Given the description of an element on the screen output the (x, y) to click on. 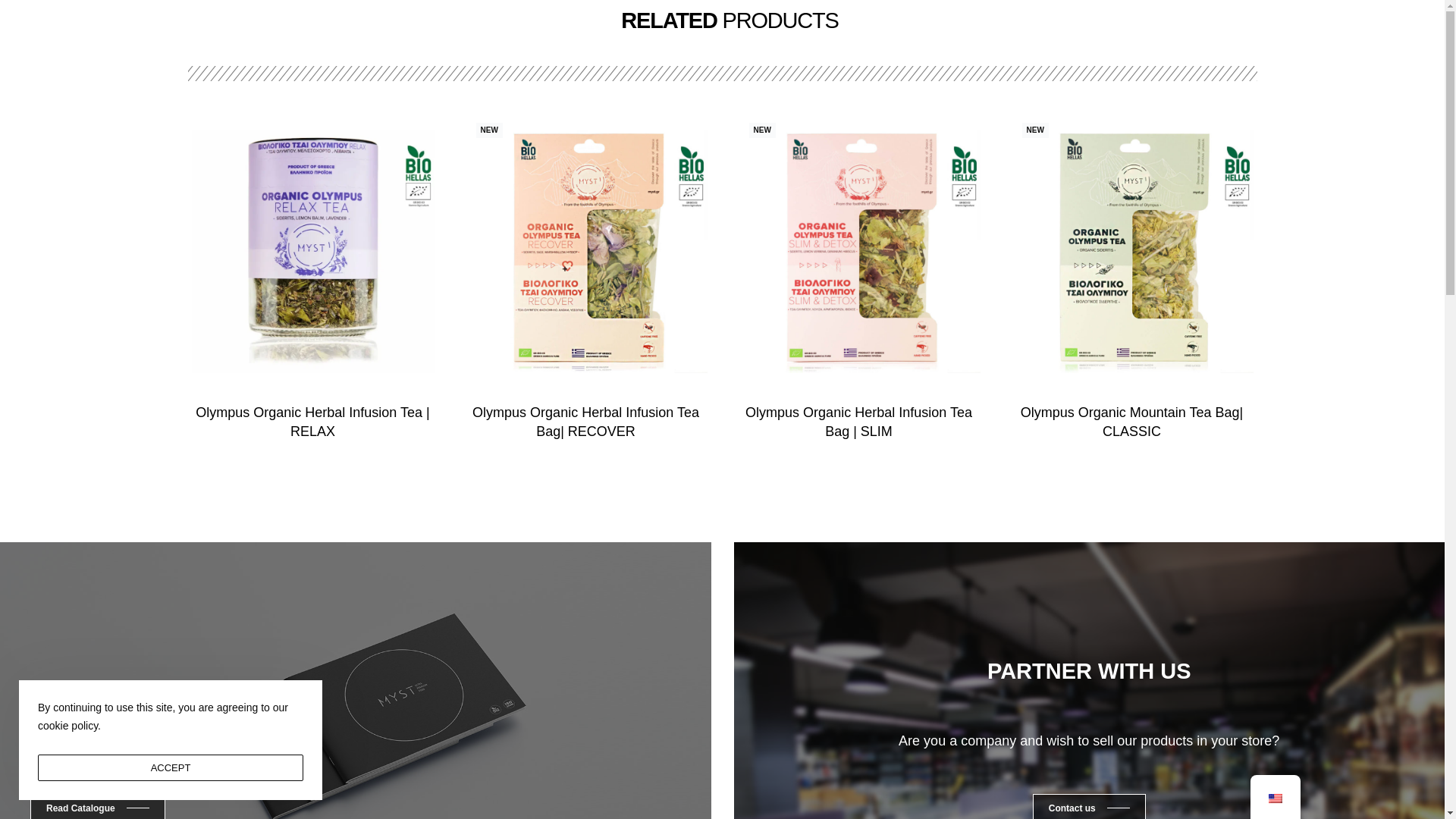
English (1274, 798)
Read Catalogue (97, 806)
ACCEPT (169, 767)
Contact us (1088, 806)
